Given the description of an element on the screen output the (x, y) to click on. 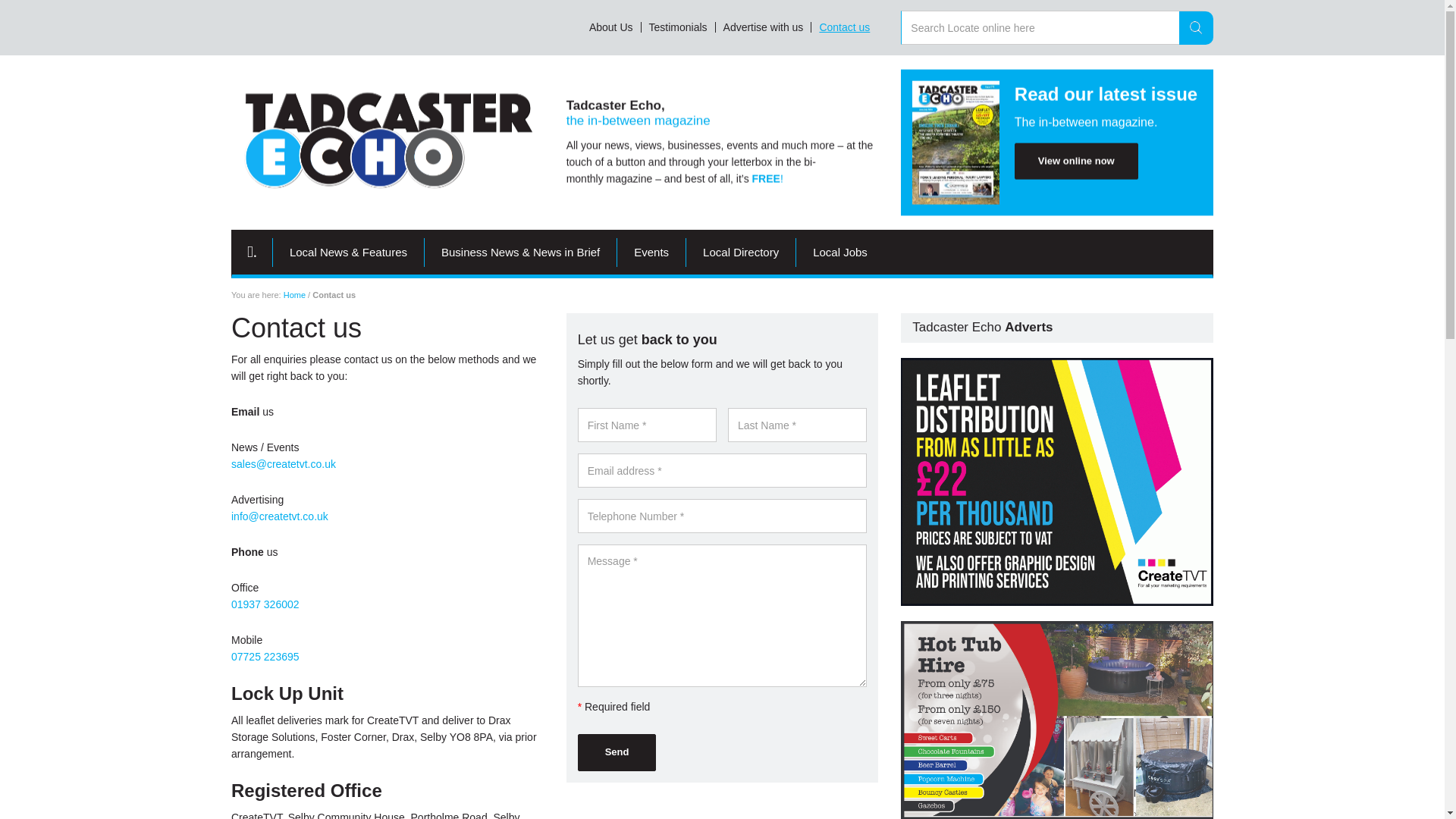
Local Jobs (839, 252)
. (252, 252)
Local Directory (740, 252)
Send (617, 751)
Search (1195, 28)
01937 326002 (265, 604)
Ask us about our leaflet distribution (1056, 481)
Home (294, 294)
About Us (611, 27)
Send (617, 751)
Advertise with us (764, 27)
Search (1195, 28)
07725 223695 (265, 656)
View online now (1076, 161)
Testimonials (679, 27)
